Given the description of an element on the screen output the (x, y) to click on. 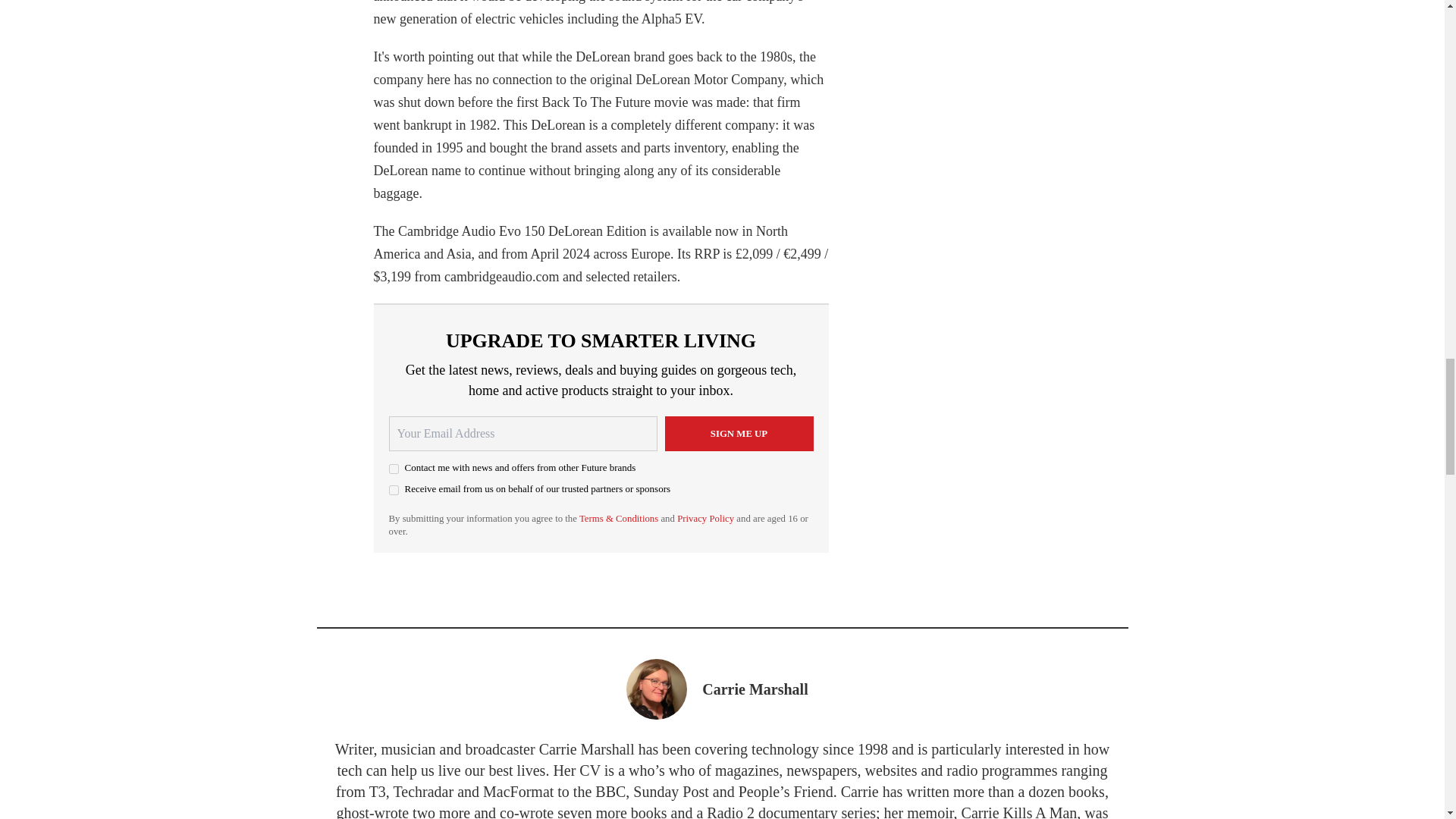
on (392, 490)
on (392, 469)
Sign me up (737, 433)
